Given the description of an element on the screen output the (x, y) to click on. 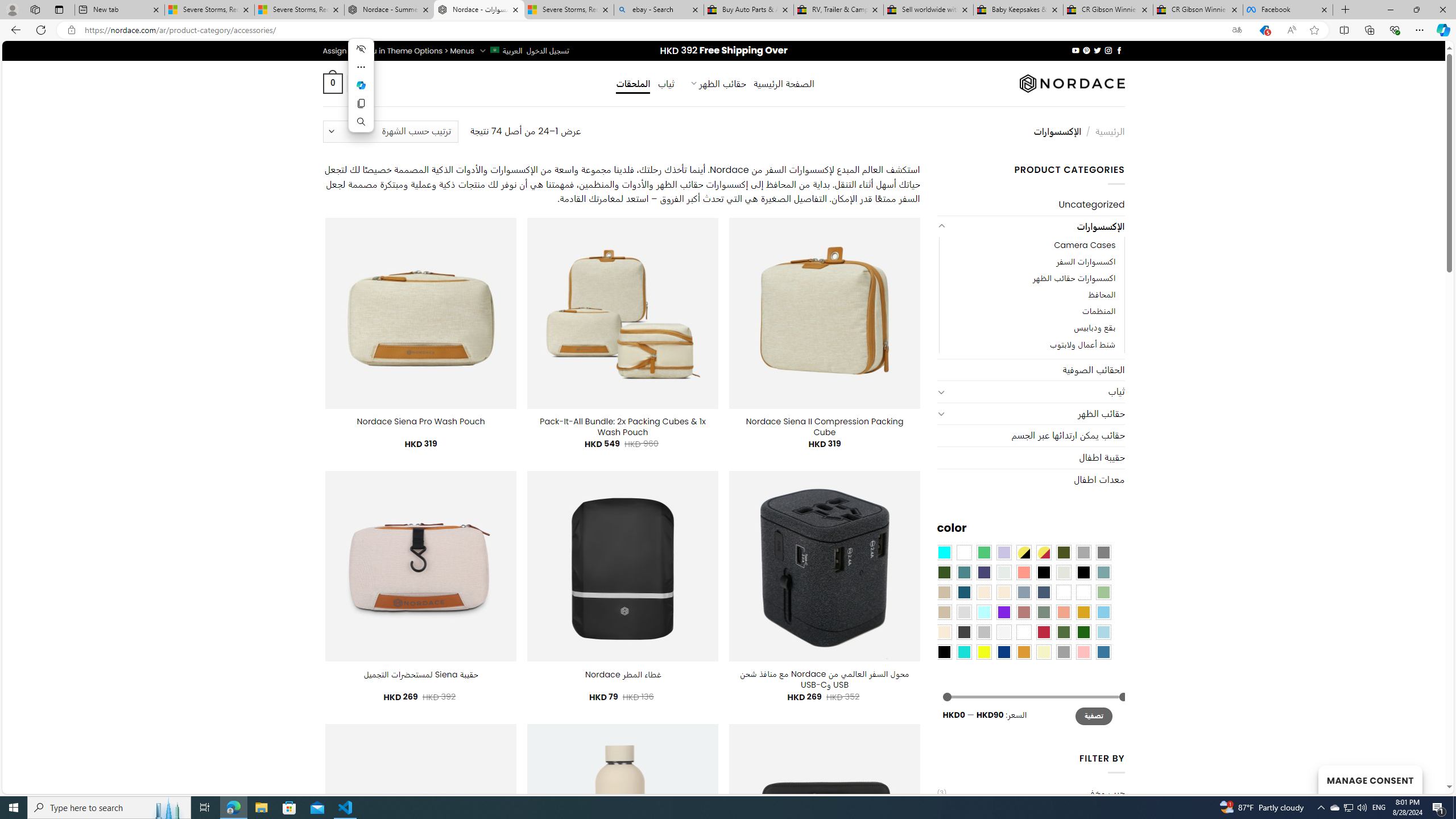
Pack-It-All Bundle: 2x Packing Cubes & 1x Wash Pouch (621, 427)
Rose (1023, 611)
Follow on Facebook (1118, 50)
App bar (728, 29)
Copy (360, 103)
RV, Trailer & Camper Steps & Ladders for sale | eBay (838, 9)
Capri Blue (963, 591)
